Given the description of an element on the screen output the (x, y) to click on. 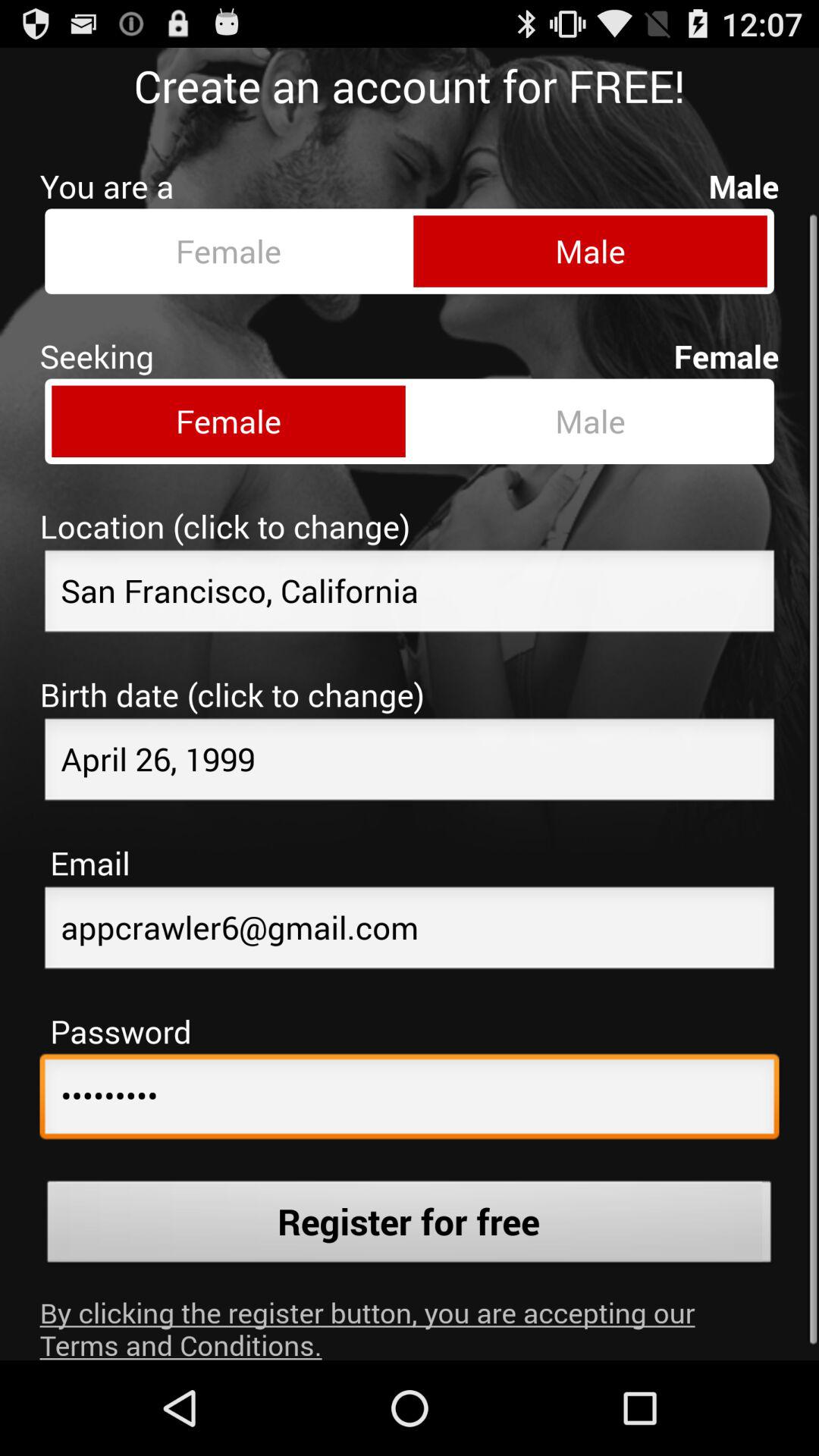
to place the birth date (409, 749)
